Given the description of an element on the screen output the (x, y) to click on. 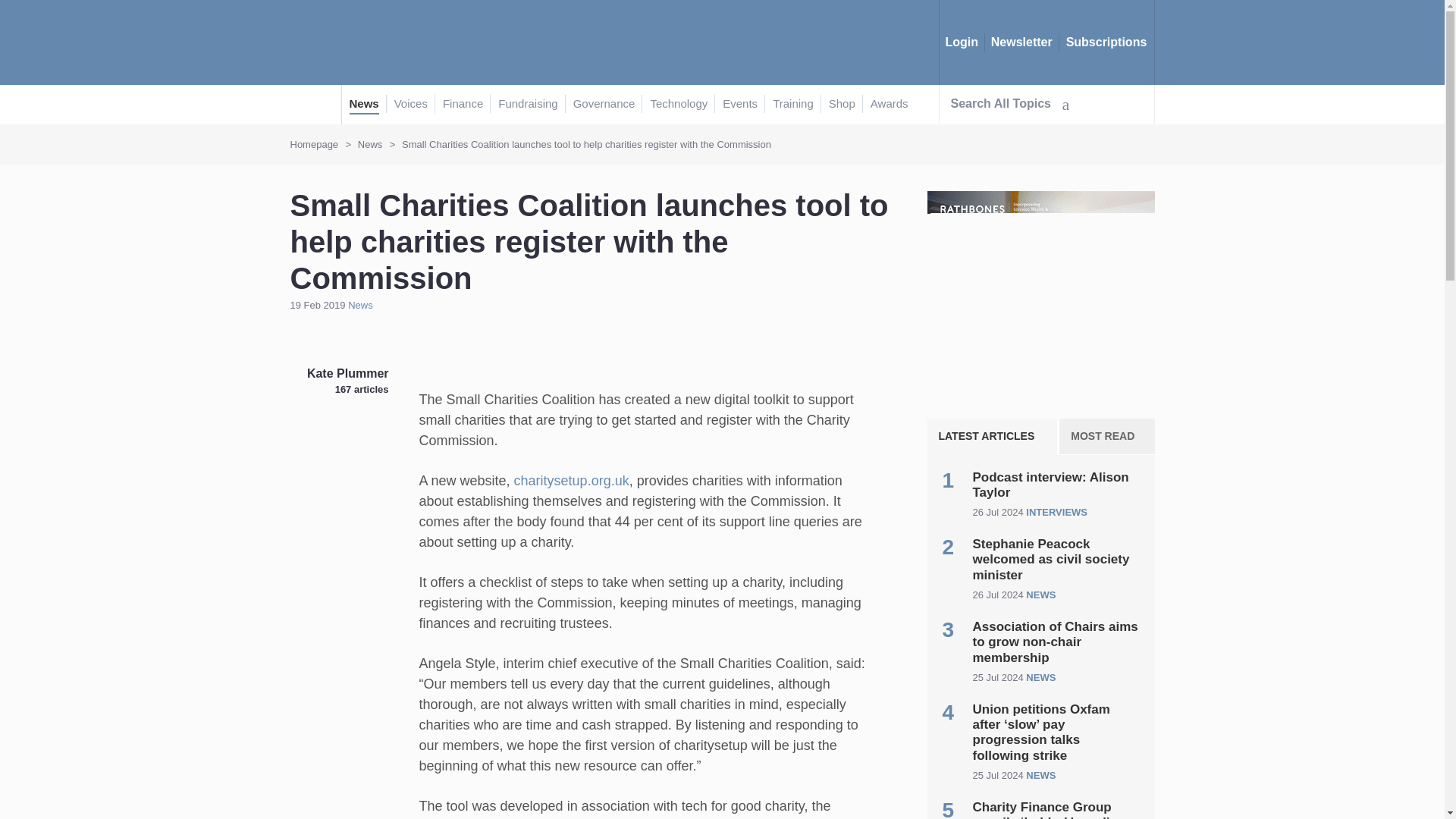
Subscriptions (1105, 42)
Training (793, 104)
Homepage (313, 143)
Search All Topics (1009, 103)
Shop (842, 104)
Events (739, 104)
Voices (411, 104)
News (370, 143)
News (359, 305)
Governance (603, 104)
charitysetup.org.uk (570, 480)
Technology (678, 104)
Fundraising (527, 104)
Finance (462, 104)
News (363, 104)
